Given the description of an element on the screen output the (x, y) to click on. 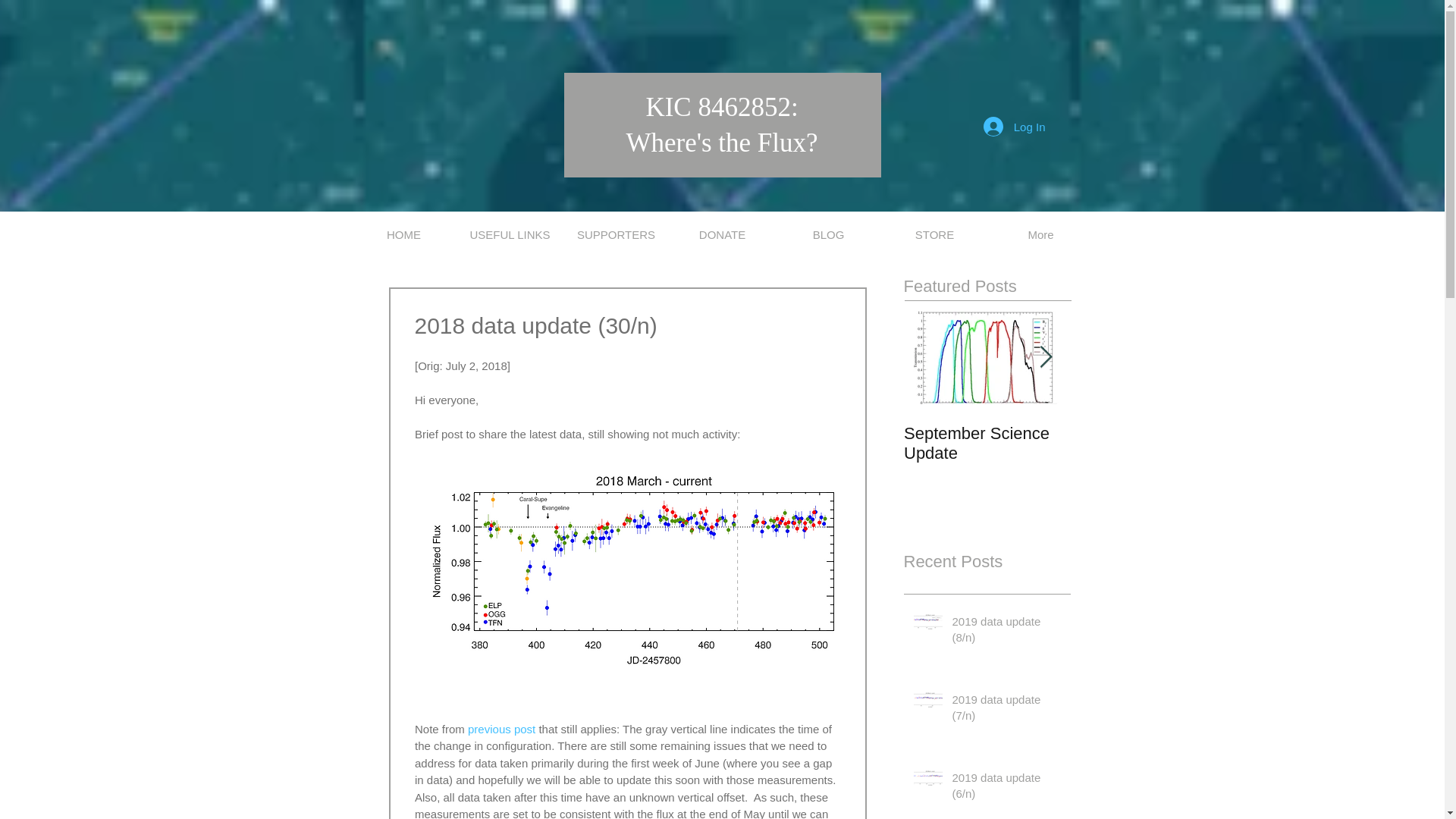
Log In (1014, 126)
BLOG (827, 234)
What will happen in May of 2017? (1153, 443)
DONATE (721, 234)
USEFUL LINKS (509, 234)
KIC 8462852: (721, 106)
September Science Update (987, 443)
previous post (501, 728)
STORE (933, 234)
Where's the Flux? (721, 142)
